Given the description of an element on the screen output the (x, y) to click on. 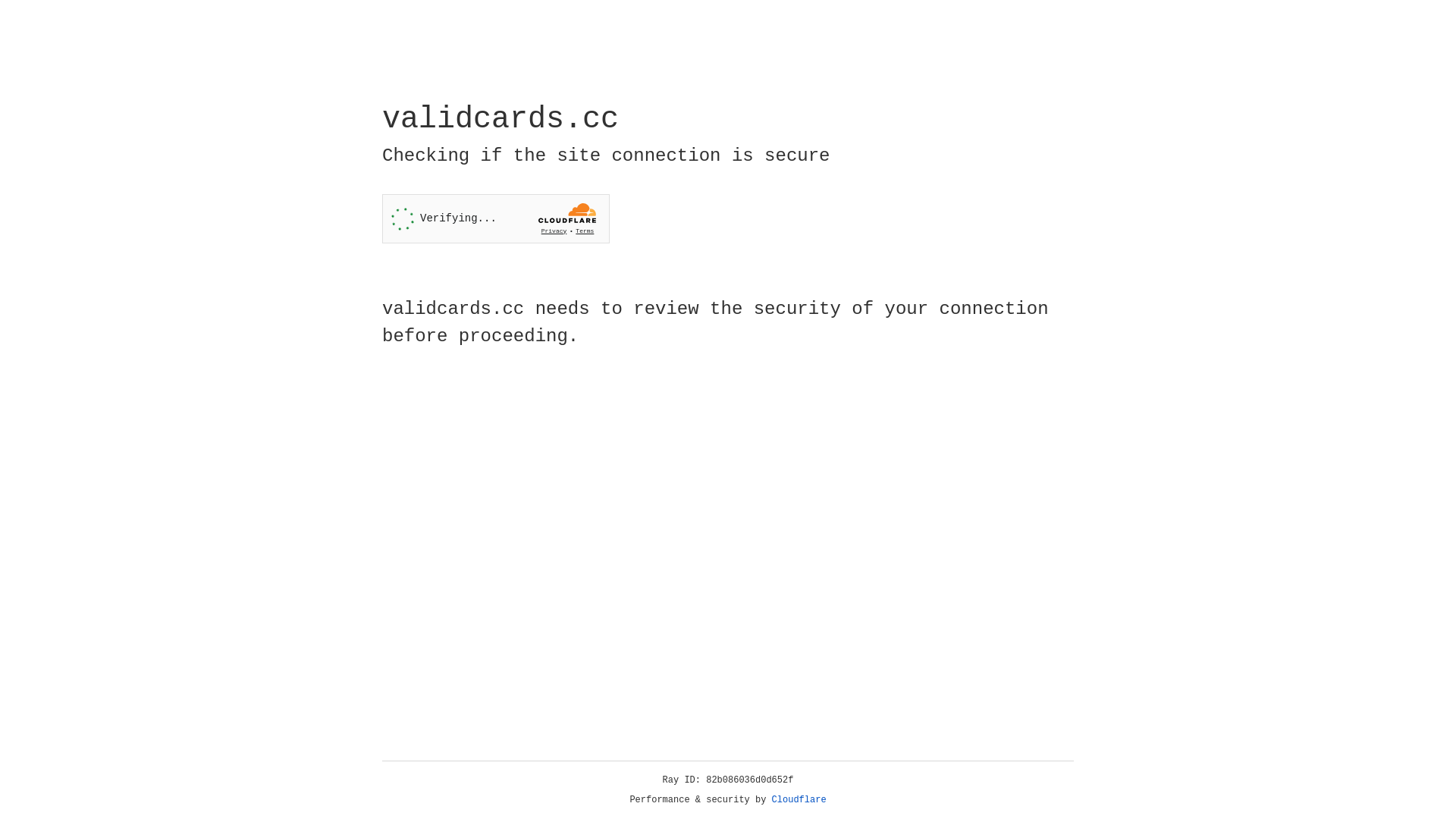
Widget containing a Cloudflare security challenge Element type: hover (495, 218)
Cloudflare Element type: text (798, 799)
